Given the description of an element on the screen output the (x, y) to click on. 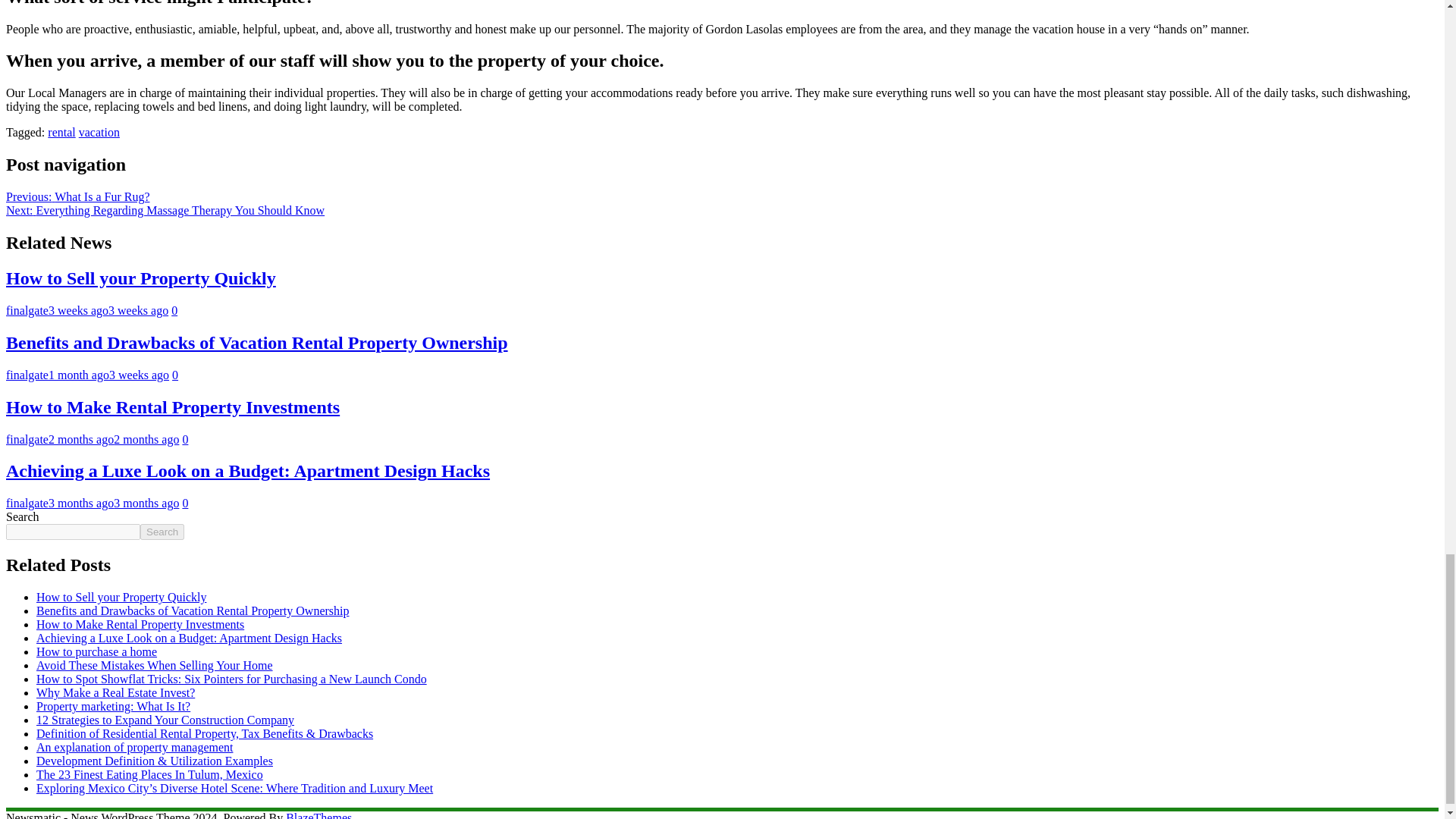
rental (61, 132)
